Given the description of an element on the screen output the (x, y) to click on. 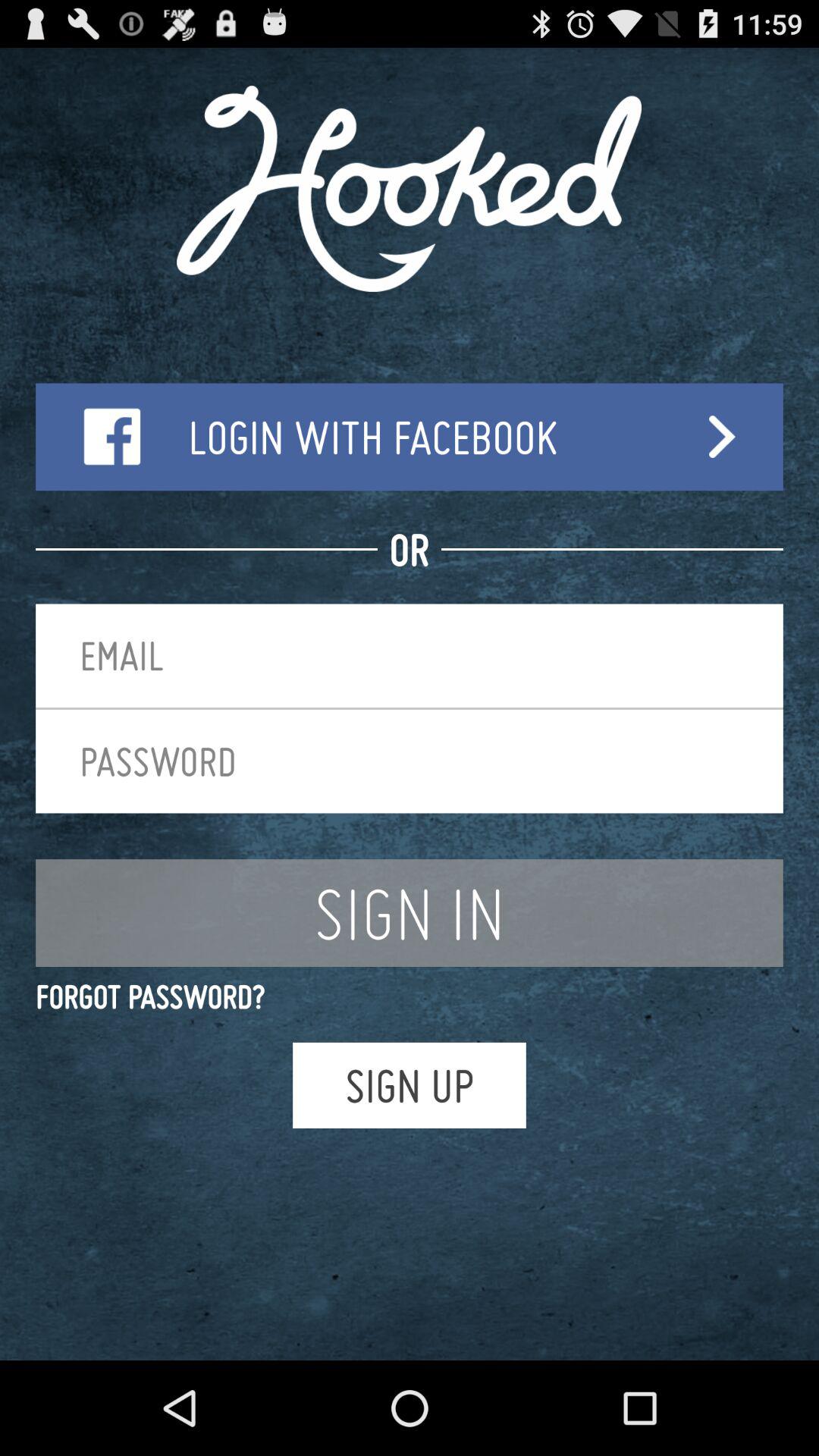
select the app below or app (409, 655)
